Given the description of an element on the screen output the (x, y) to click on. 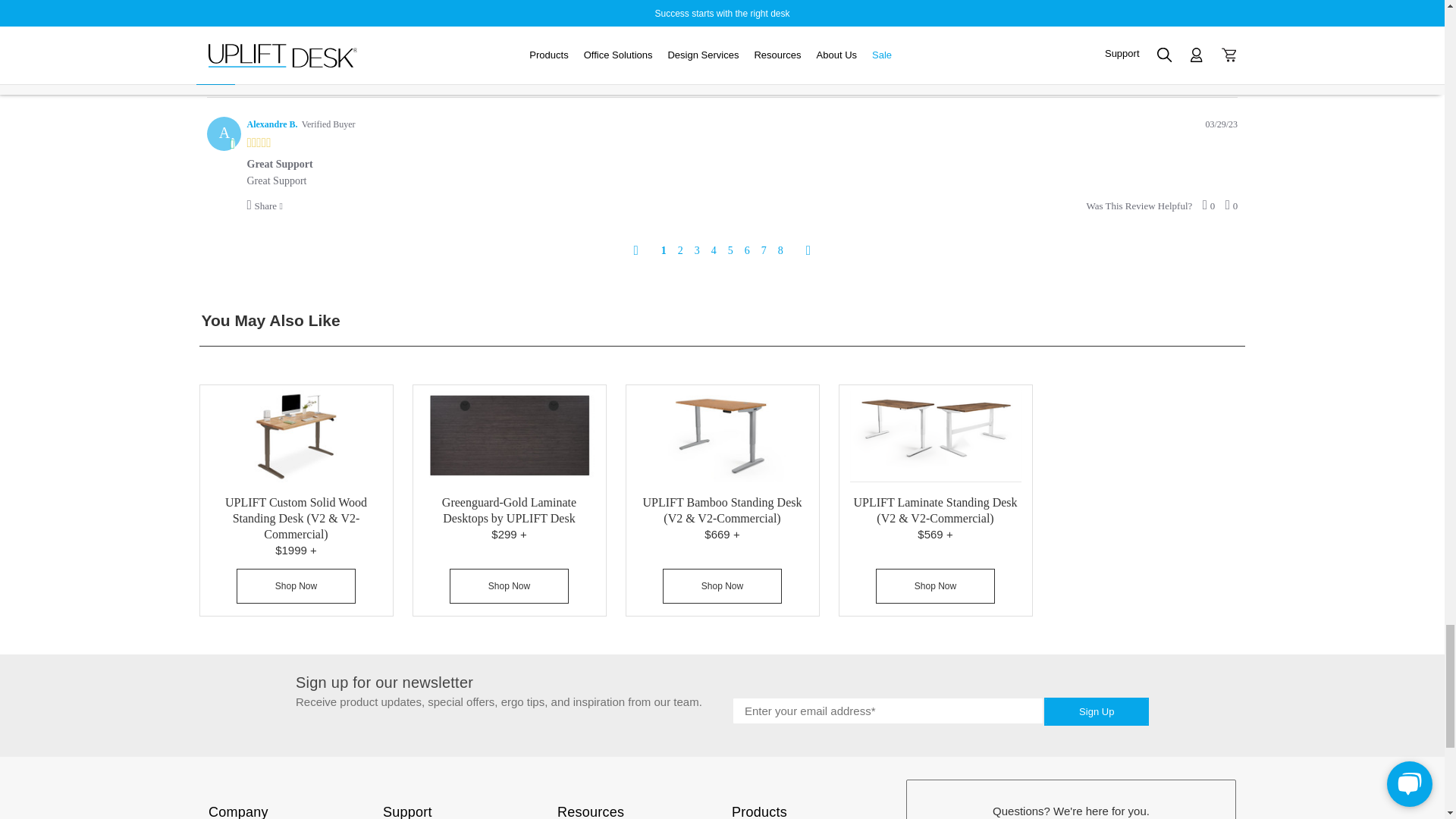
Sign Up (1096, 711)
